Given the description of an element on the screen output the (x, y) to click on. 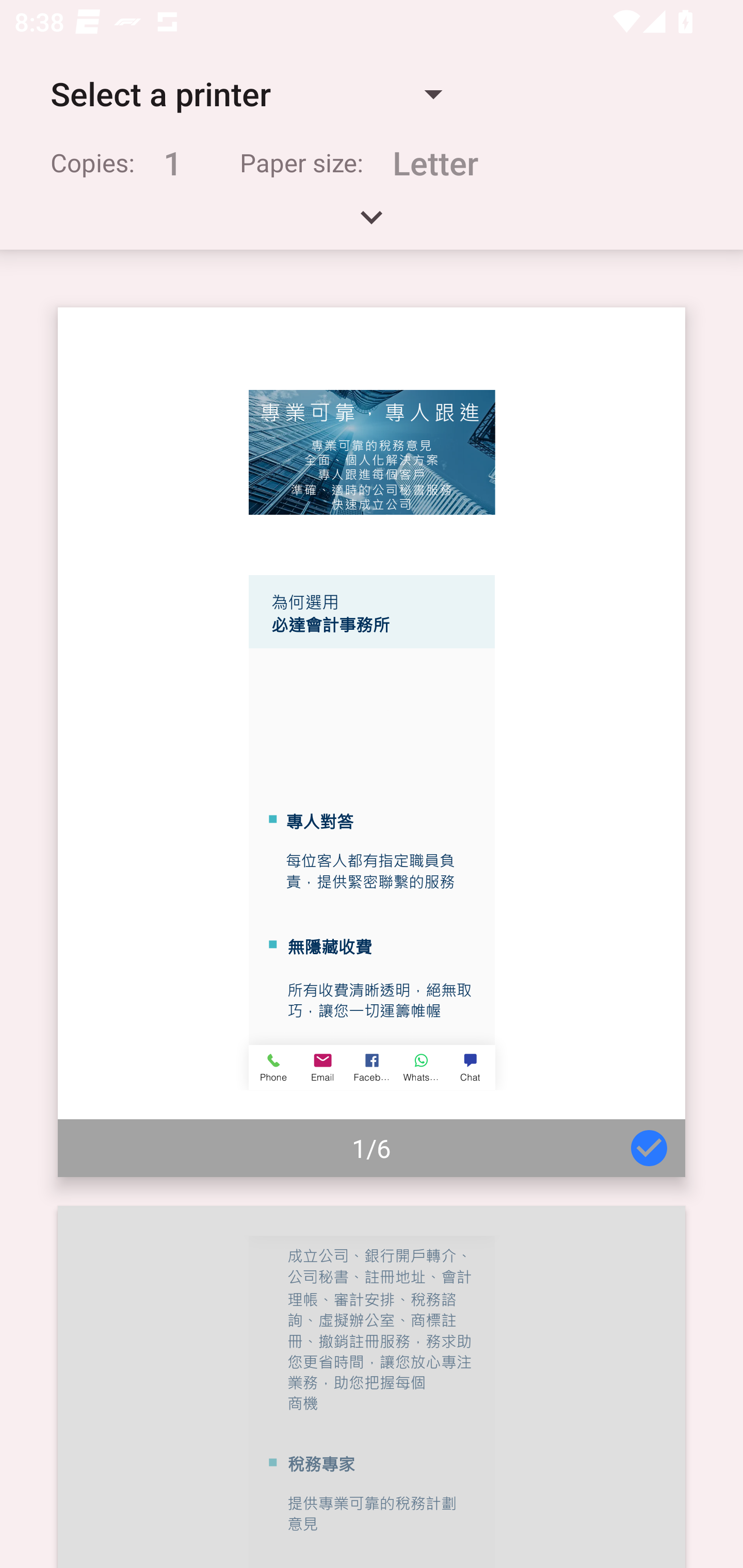
Select a printer (245, 93)
Expand handle (371, 224)
Page 1 of 6 1/6 (371, 742)
